Given the description of an element on the screen output the (x, y) to click on. 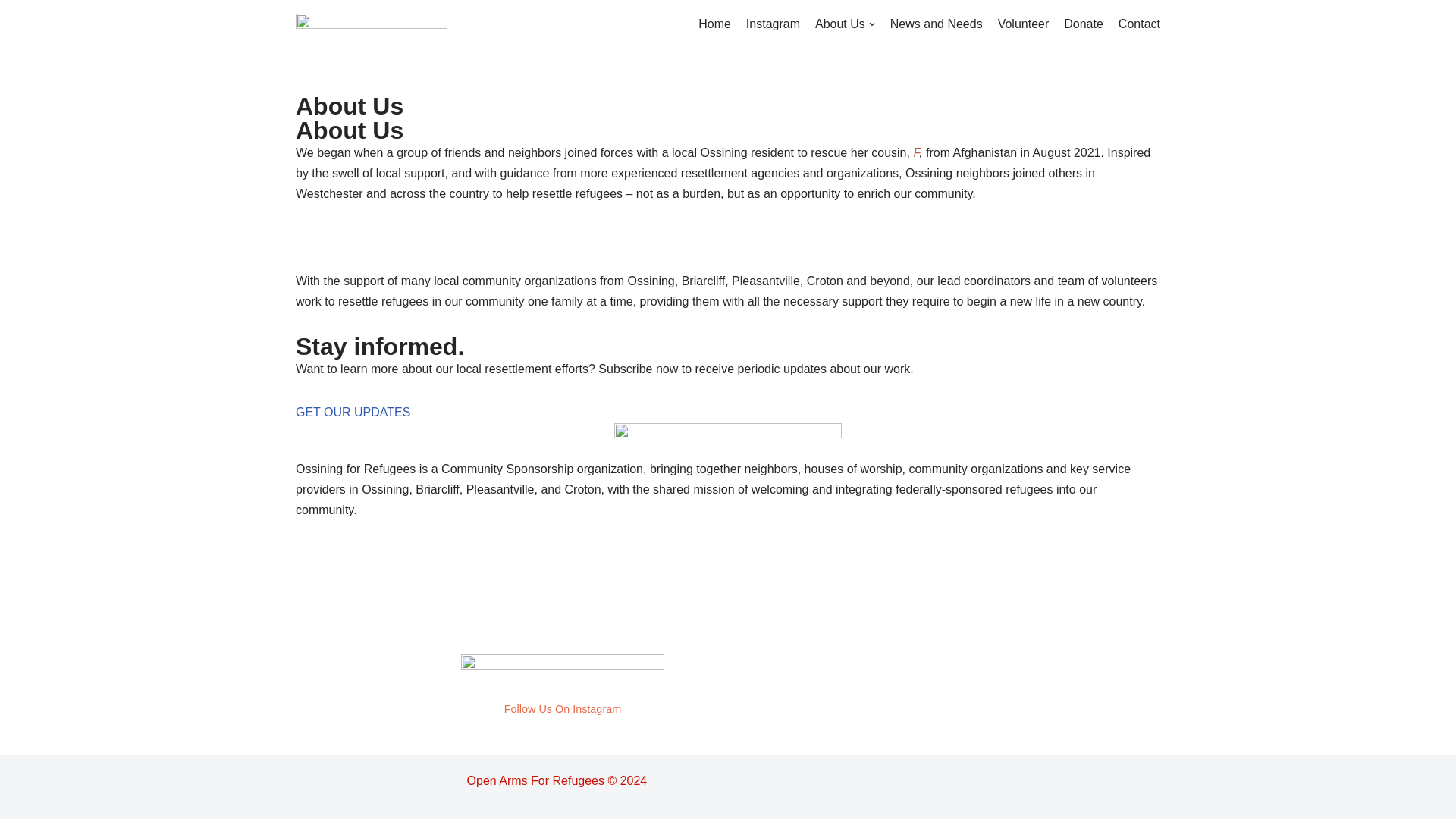
Contact (1139, 24)
About Us (845, 24)
Instagram (772, 24)
Skip to content (11, 31)
Open Arms For Refugees (370, 24)
Volunteer (1023, 24)
Donate (1083, 24)
Home (714, 24)
News and Needs (935, 24)
GET OUR UPDATES (352, 411)
